Given the description of an element on the screen output the (x, y) to click on. 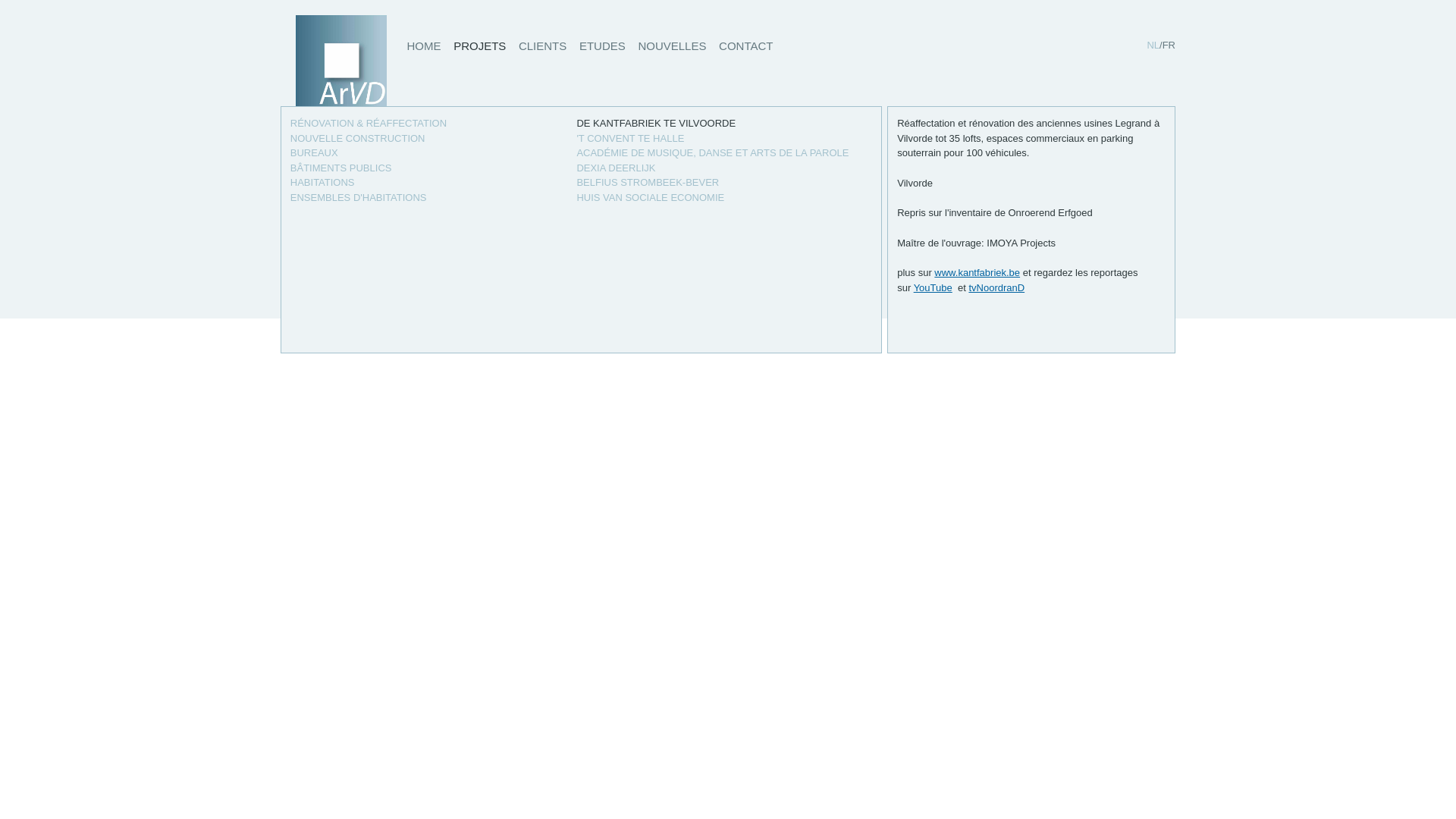
HOME Element type: text (423, 49)
HABITATIONS Element type: text (322, 182)
ArVD Element type: hover (340, 98)
NOUVELLES Element type: text (671, 49)
ENSEMBLES D'HABITATIONS Element type: text (358, 197)
ETUDES Element type: text (602, 49)
CLIENTS Element type: text (542, 49)
NOUVELLE CONSTRUCTION Element type: text (357, 138)
PROJETS Element type: text (479, 49)
YouTube Element type: text (932, 287)
HUIS VAN SOCIALE ECONOMIE Element type: text (650, 197)
Skip to main content Element type: text (700, 1)
tvNoordranD Element type: text (996, 287)
NL Element type: text (1152, 44)
BUREAUX Element type: text (314, 152)
CONTACT Element type: text (745, 49)
DEXIA DEERLIJK Element type: text (615, 167)
DE KANTFABRIEK TE VILVOORDE Element type: text (655, 122)
FR Element type: text (1167, 44)
www.kantfabriek.be Element type: text (976, 272)
BELFIUS STROMBEEK-BEVER Element type: text (647, 182)
'T CONVENT TE HALLE Element type: text (630, 138)
